Given the description of an element on the screen output the (x, y) to click on. 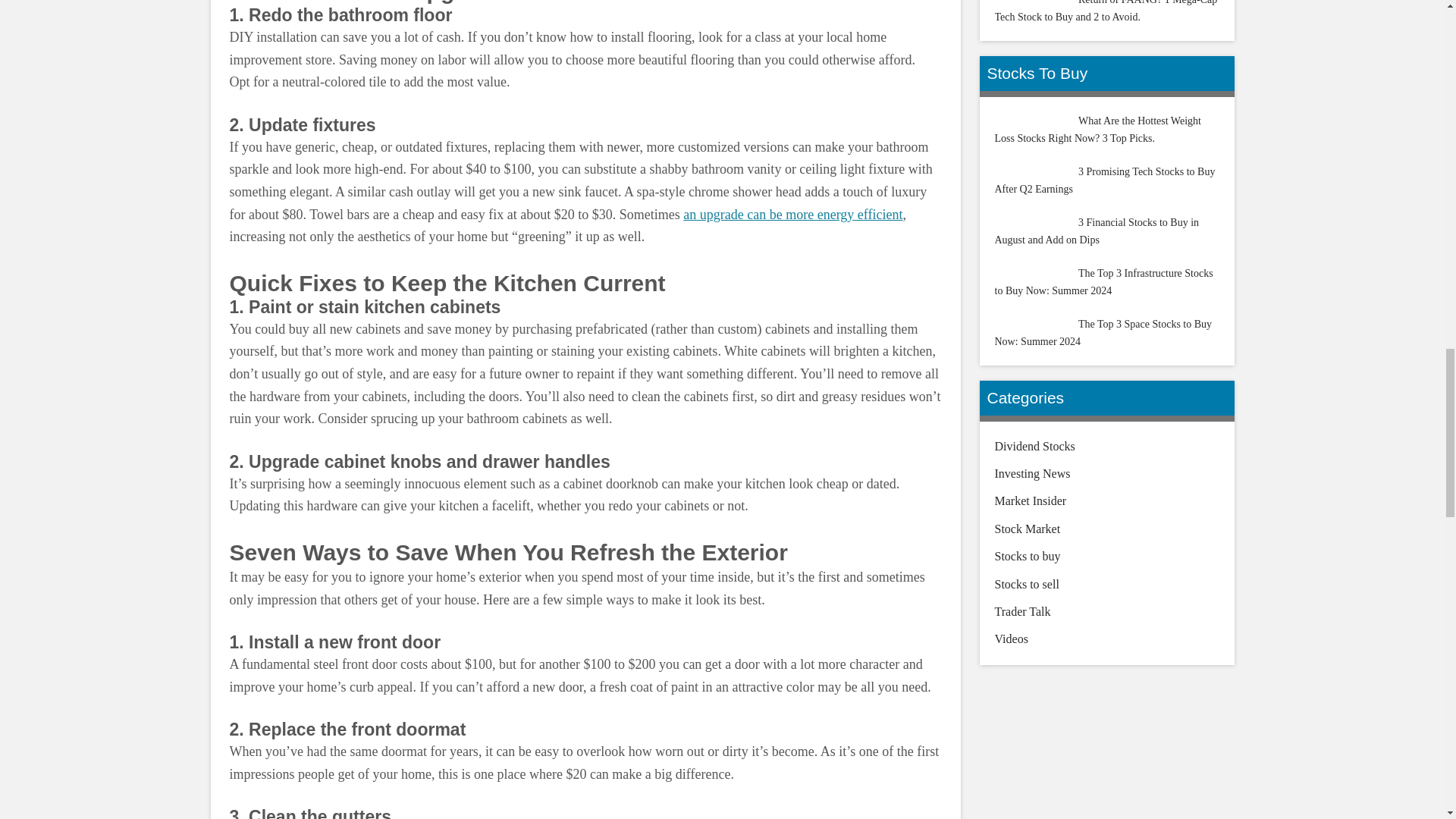
an upgrade can be more energy efficient (792, 214)
